Given the description of an element on the screen output the (x, y) to click on. 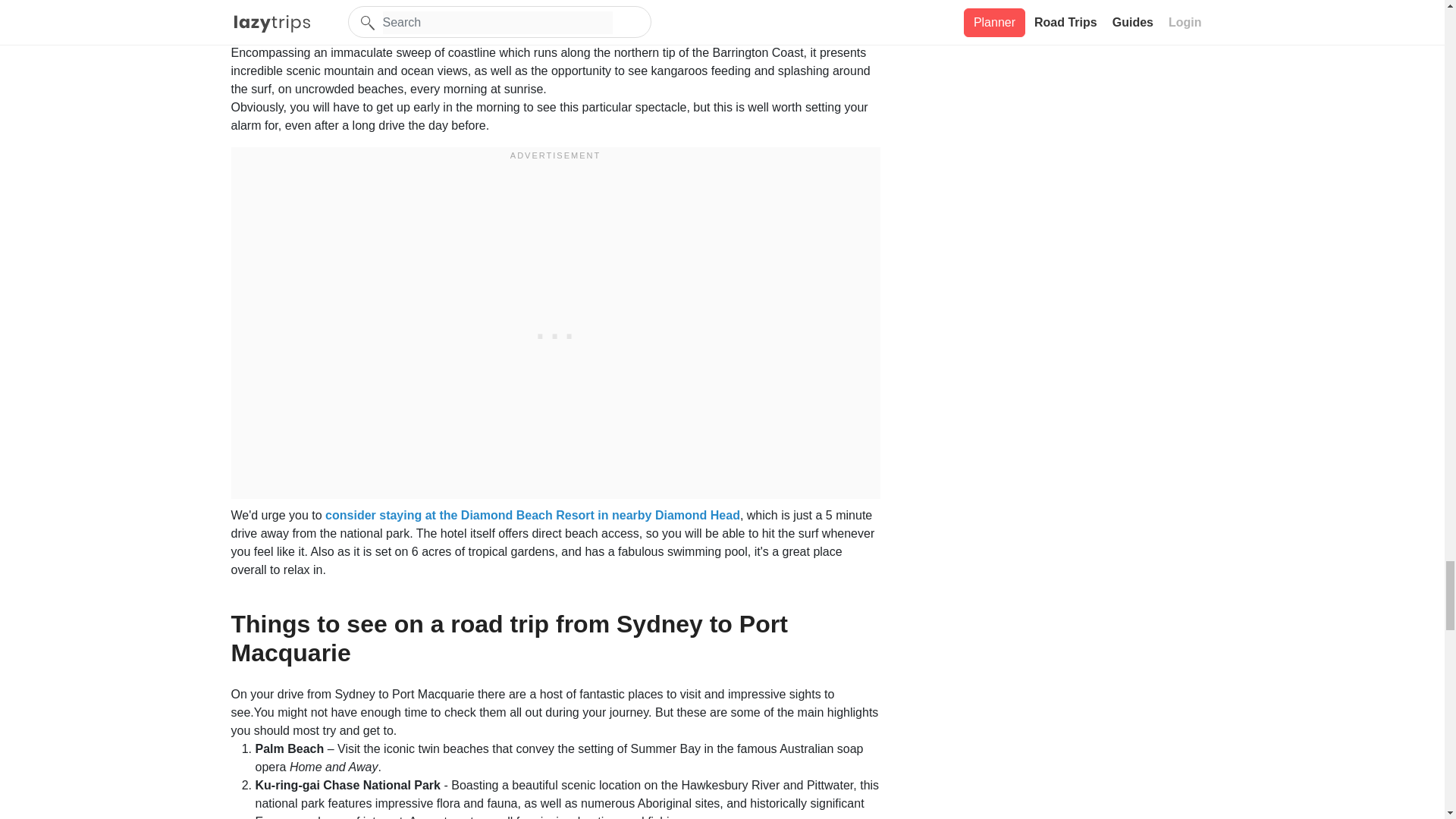
consider staying at the (392, 514)
in nearby Diamond Head (666, 514)
Diamond Beach Resort (527, 514)
